Given the description of an element on the screen output the (x, y) to click on. 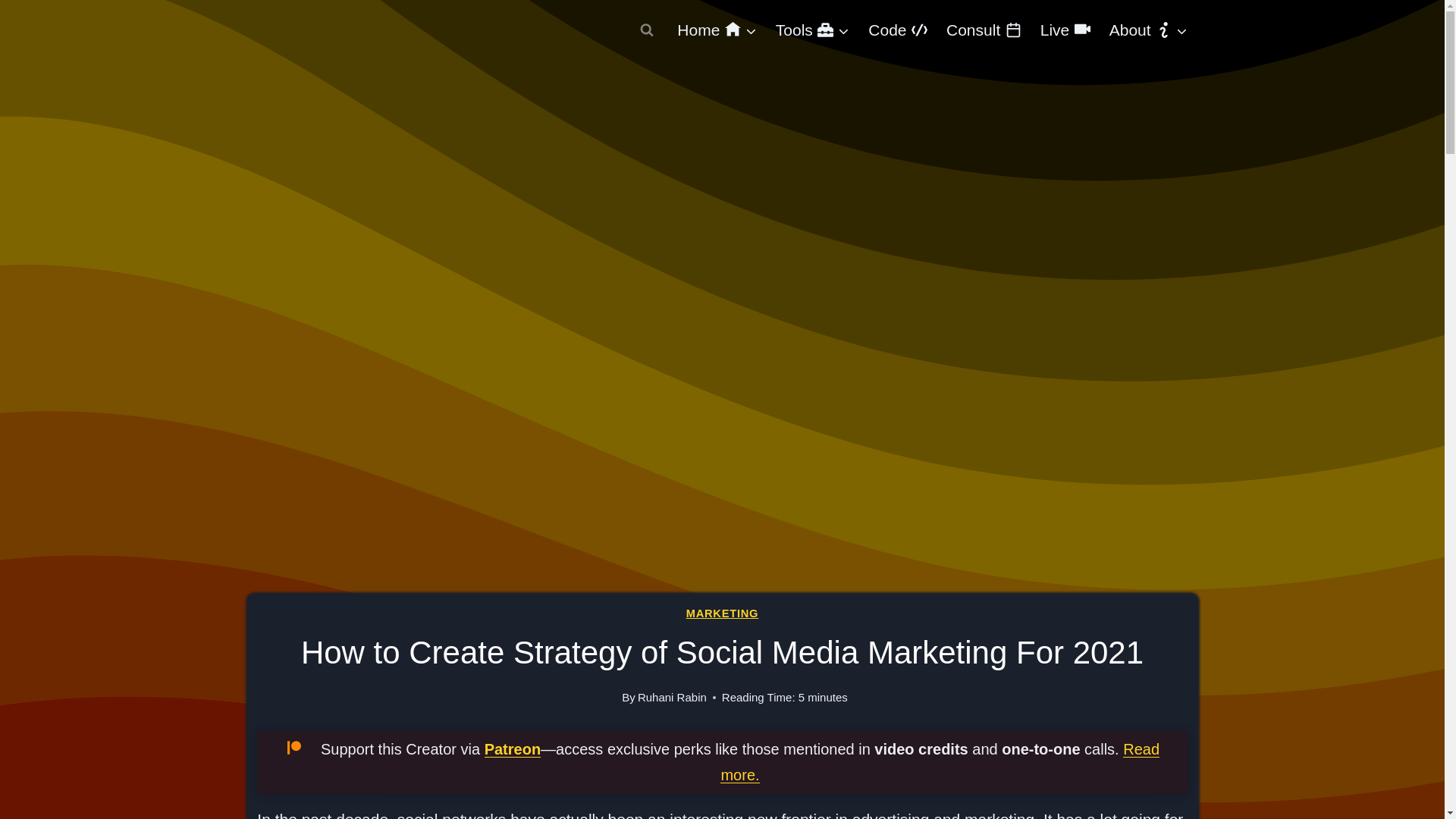
MARKETING (721, 613)
Consult (983, 30)
Tools (812, 30)
Read more. (939, 761)
Live (1064, 30)
About (1147, 30)
Patreon (512, 749)
Code (898, 30)
Home (717, 30)
